Given the description of an element on the screen output the (x, y) to click on. 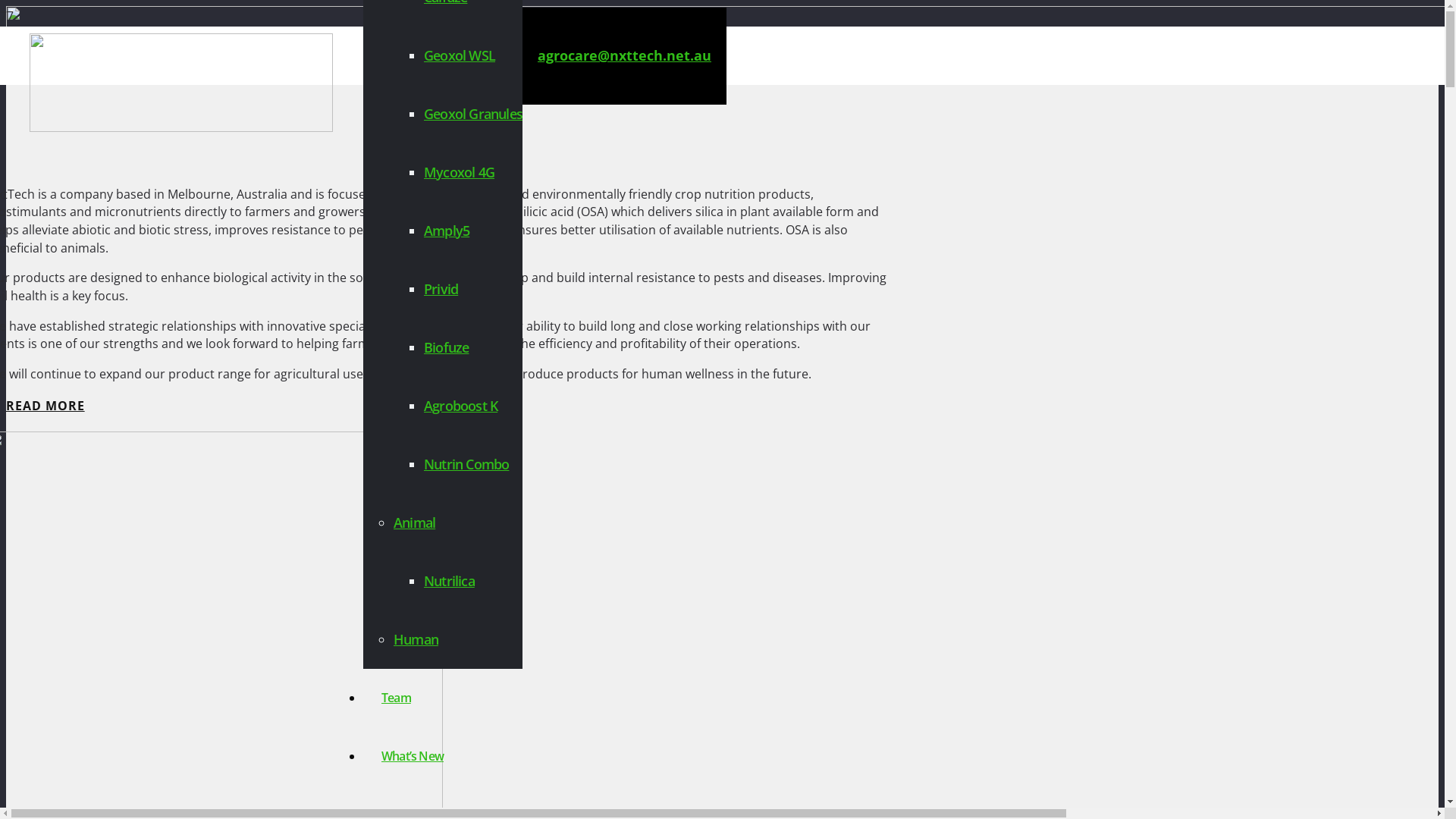
Nutrin Combo Element type: text (465, 464)
Agroboost K Element type: text (460, 405)
Geoxol Granules Element type: text (472, 113)
Team Element type: text (396, 697)
Biofuze Element type: text (445, 347)
Nutrilica Element type: text (448, 580)
Mycoxol 4G Element type: text (458, 172)
Animal Element type: text (414, 522)
Human Element type: text (415, 639)
Privid Element type: text (440, 288)
agrocare@nxttech.net.au Element type: text (624, 54)
Amply5 Element type: text (446, 230)
Geoxol WSL Element type: text (459, 55)
